Given the description of an element on the screen output the (x, y) to click on. 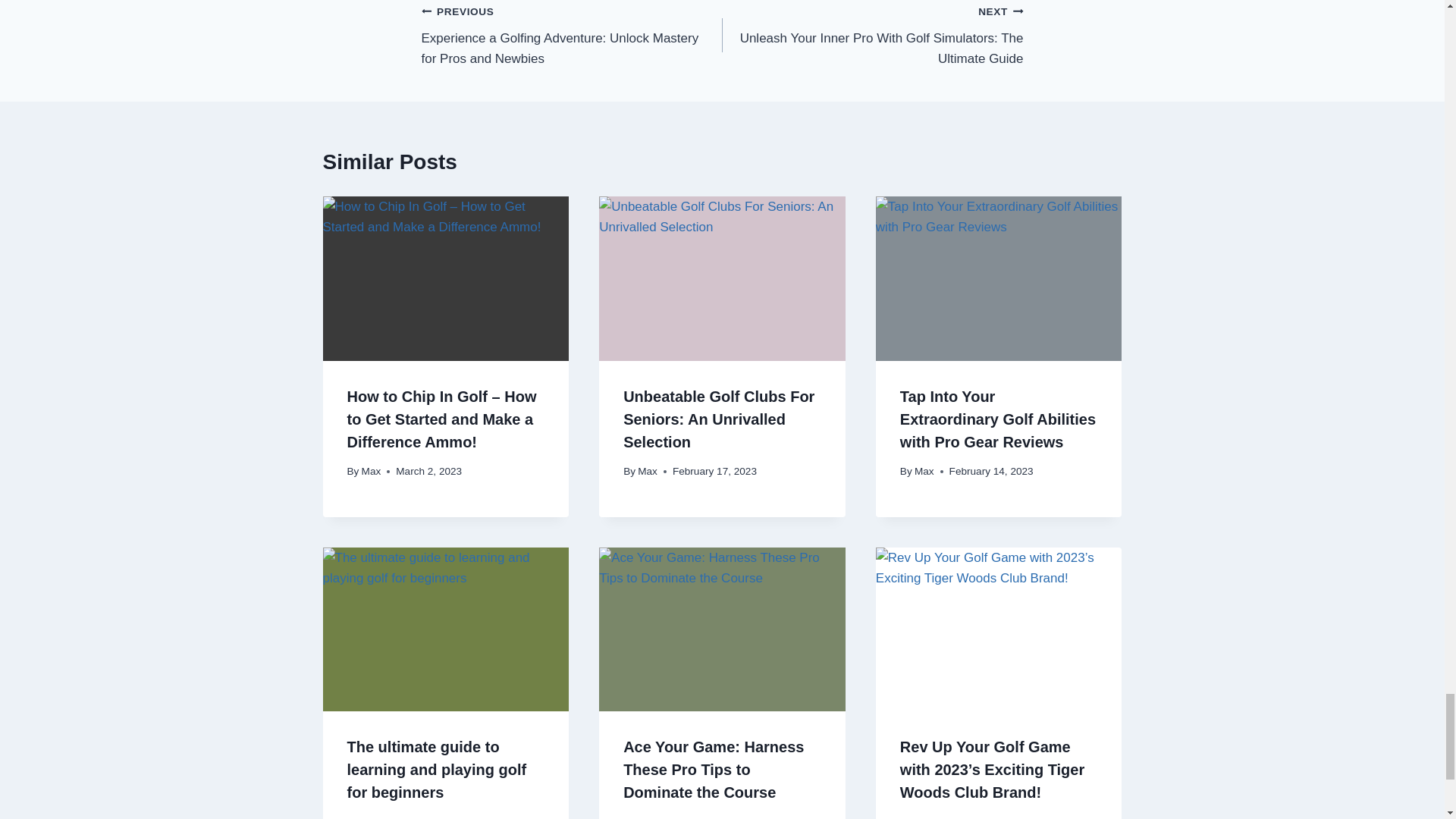
Max (371, 471)
Max (647, 471)
Unbeatable Golf Clubs For Seniors: An Unrivalled Selection (718, 419)
